Given the description of an element on the screen output the (x, y) to click on. 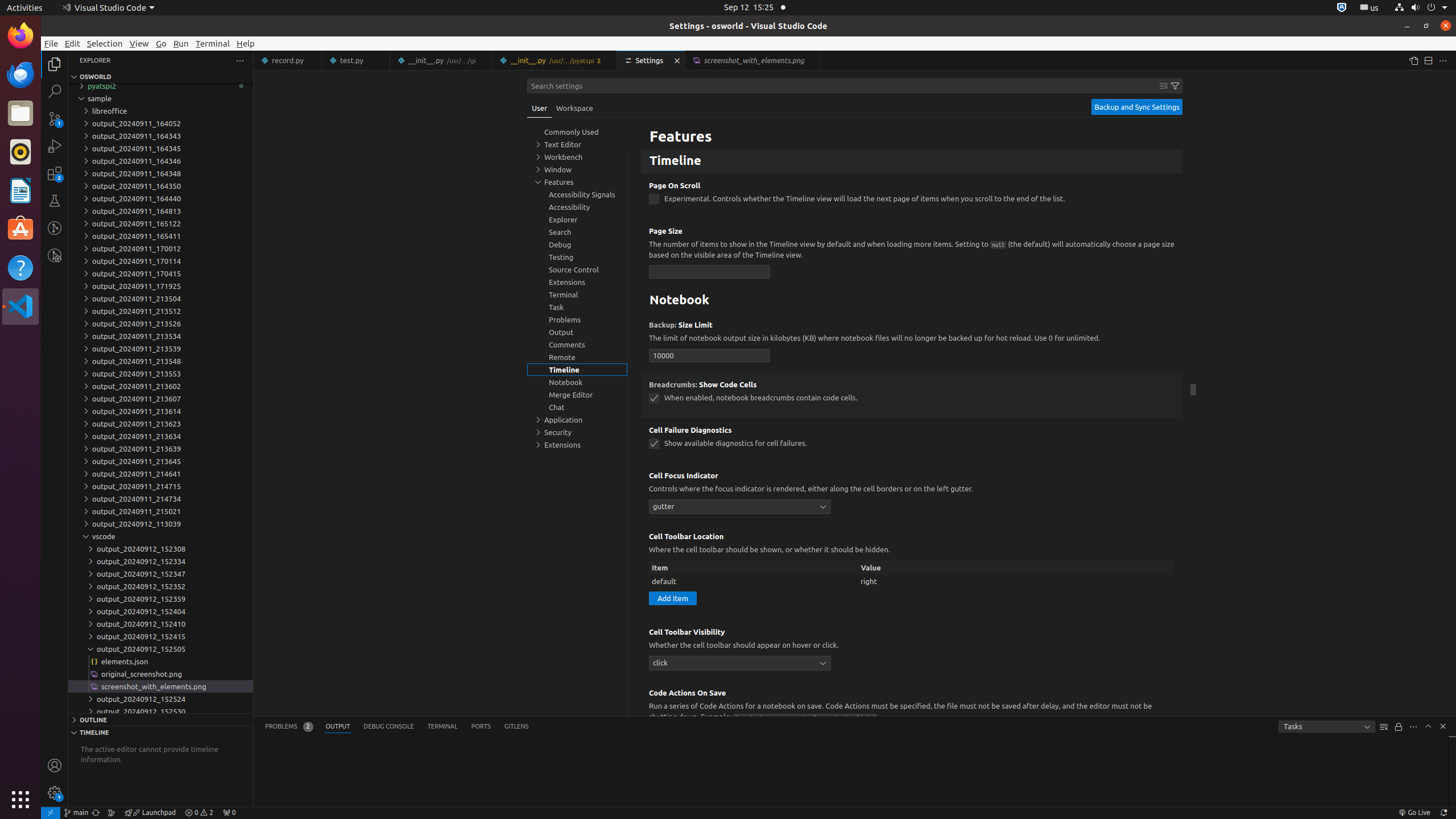
View Element type: push-button (139, 43)
Debug Console (Ctrl+Shift+Y) Element type: page-tab (388, 726)
Explorer Section: osworld Element type: push-button (160, 76)
Accounts Element type: push-button (54, 765)
output_20240911_213534 Element type: tree-item (160, 335)
